Given the description of an element on the screen output the (x, y) to click on. 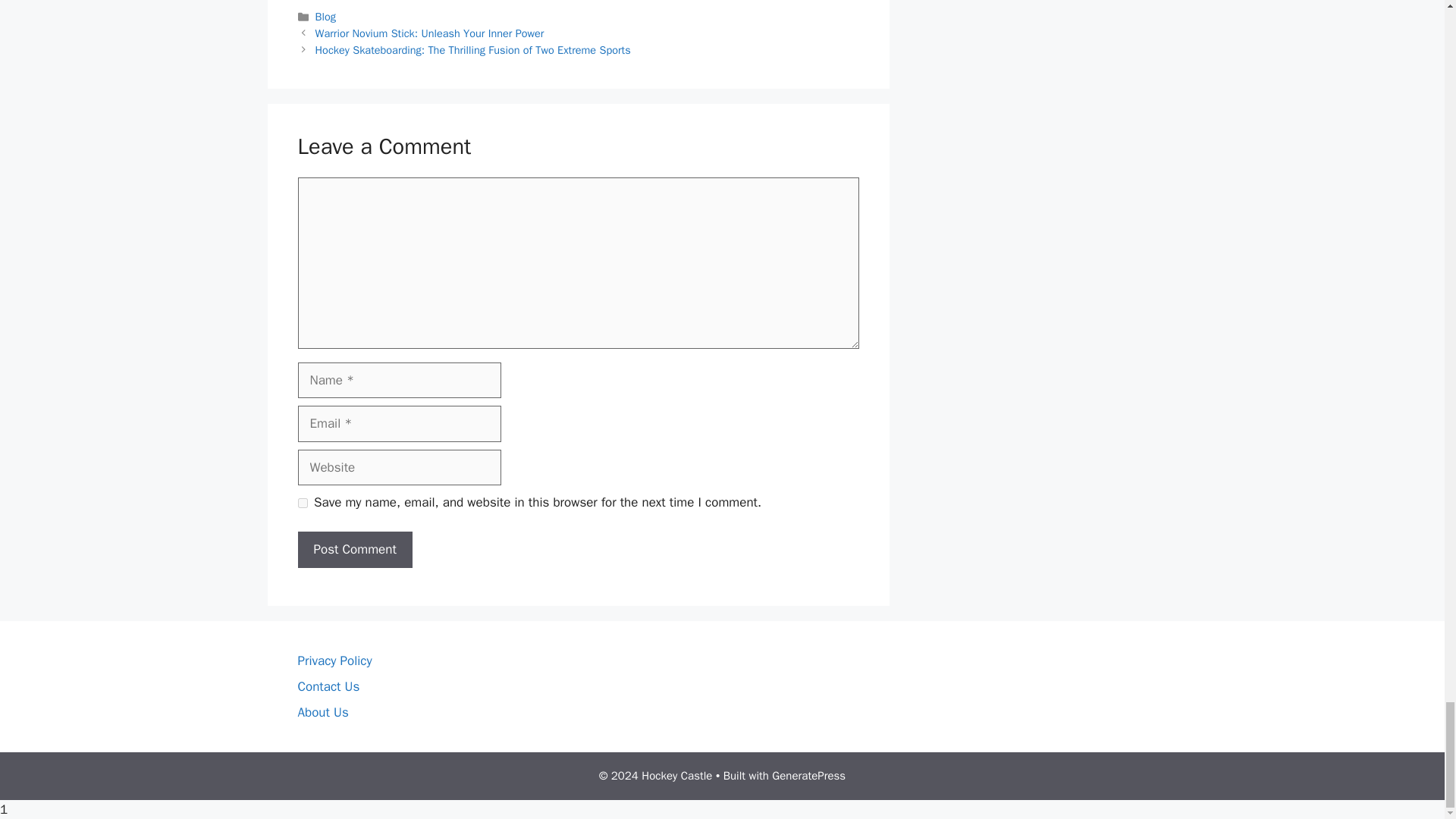
yes (302, 502)
Post Comment (354, 549)
